Given the description of an element on the screen output the (x, y) to click on. 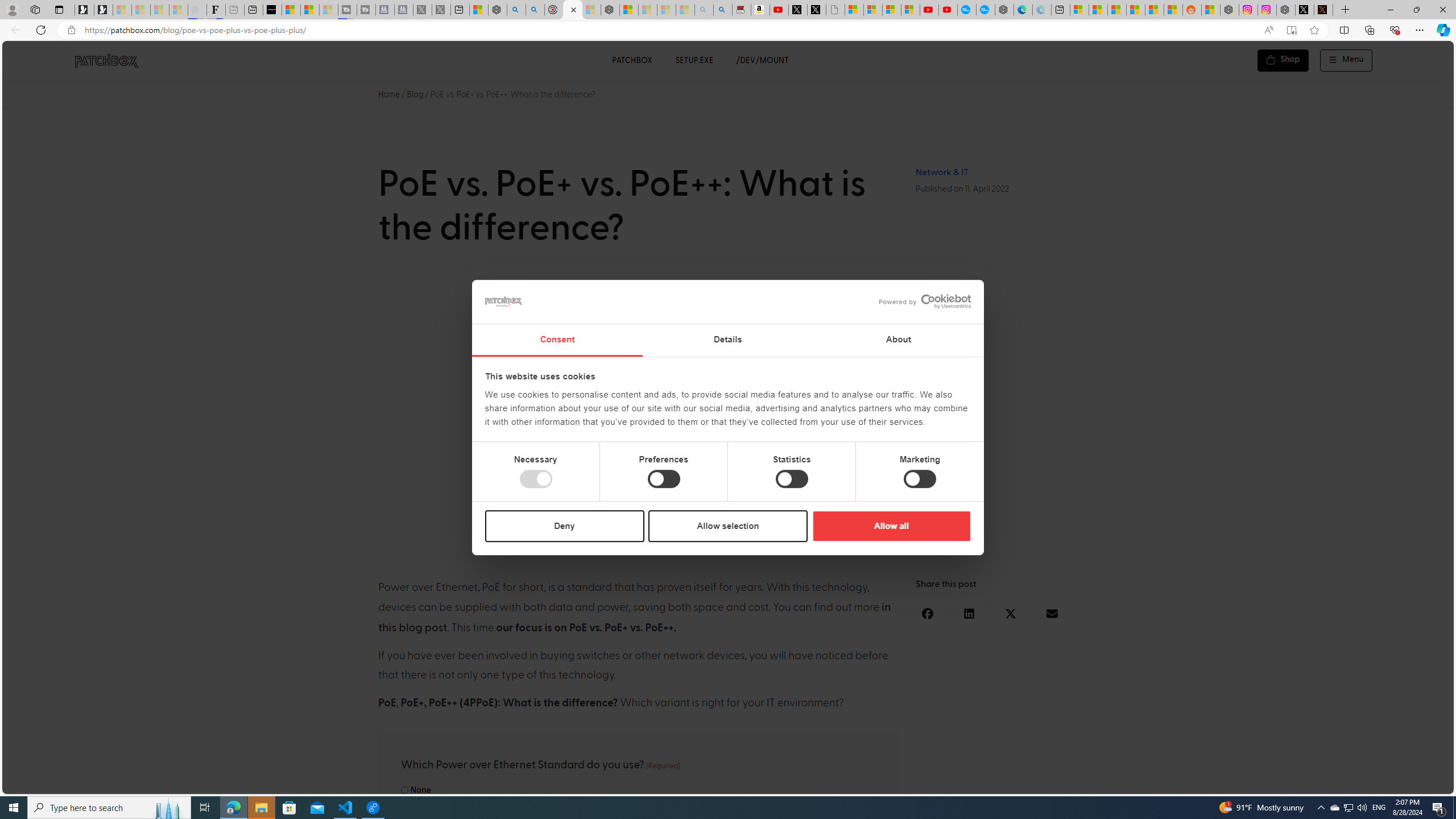
Share on email (1051, 613)
Consent (556, 340)
Necessary (535, 479)
PATCHBOX (631, 60)
Language switcher : Spanish (1254, 782)
PATCHBOX Simplify IT (114, 60)
About (898, 340)
Network & IT (941, 171)
